Given the description of an element on the screen output the (x, y) to click on. 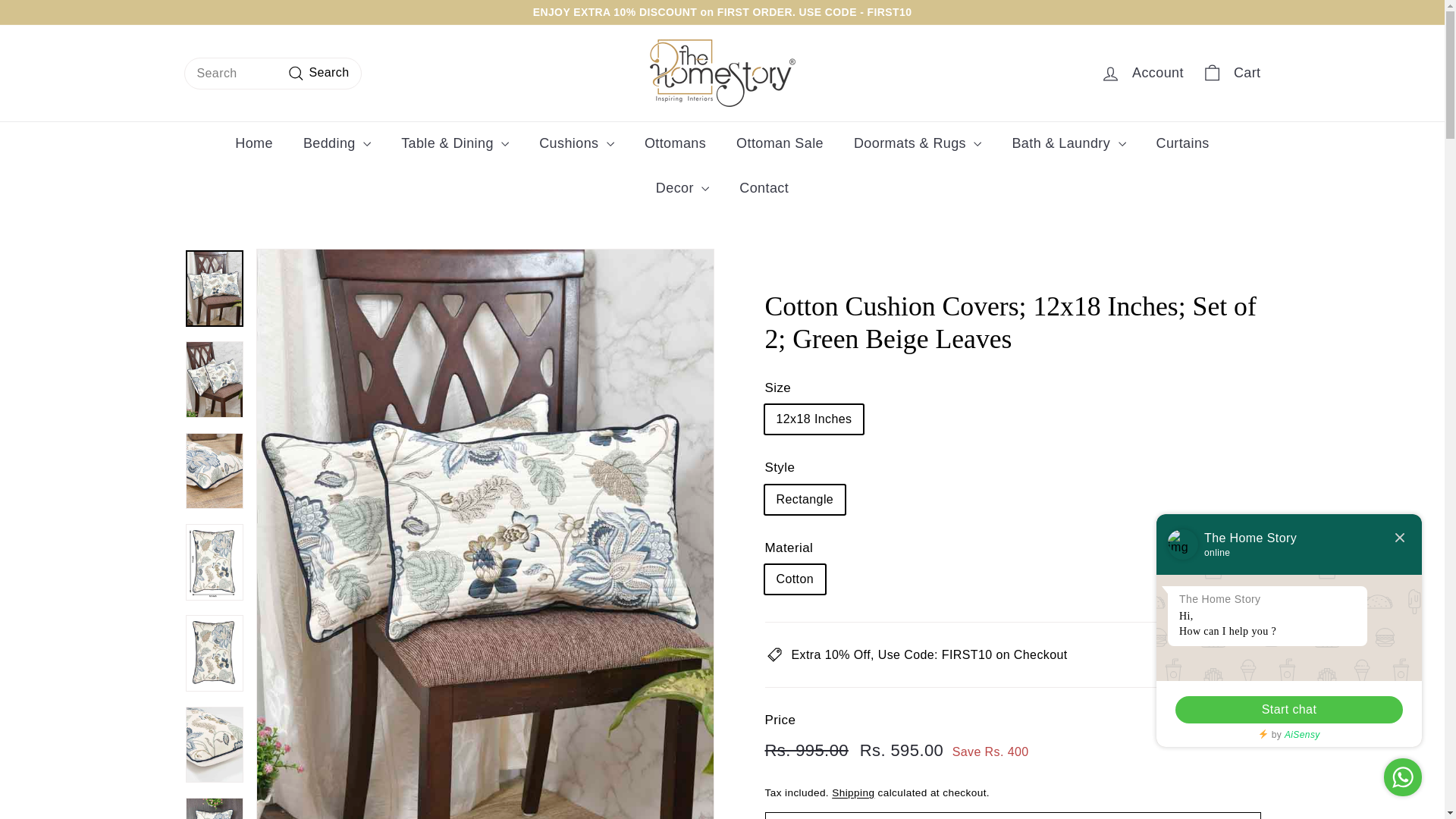
Ottomans (674, 143)
Cart (1230, 73)
Home (253, 143)
Account (1141, 72)
Ottoman Sale (779, 143)
